Given the description of an element on the screen output the (x, y) to click on. 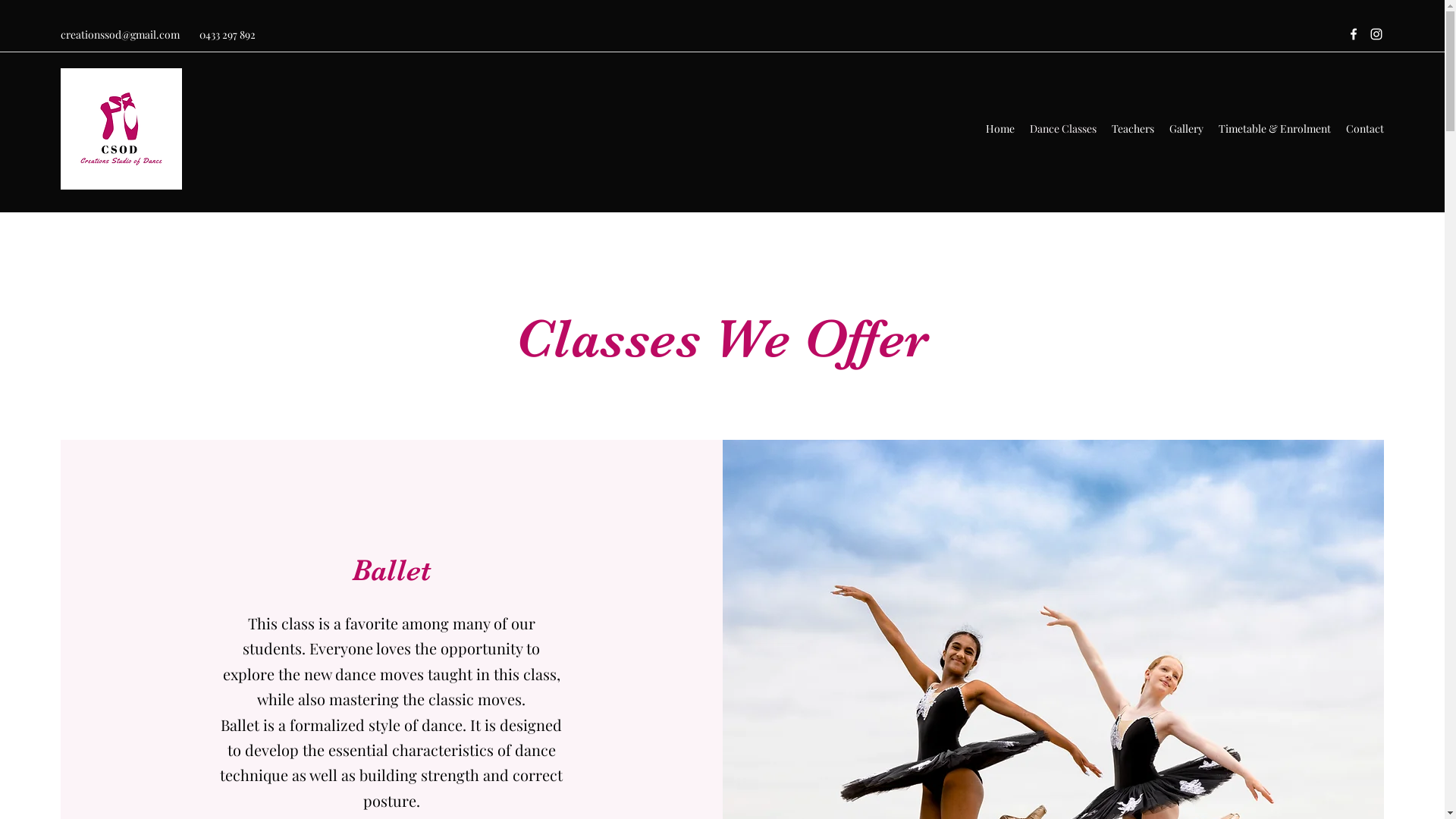
creationssod@gmail.com Element type: text (119, 34)
Teachers Element type: text (1132, 128)
Gallery Element type: text (1186, 128)
Dance Classes Element type: text (1063, 128)
Contact Element type: text (1364, 128)
Timetable & Enrolment Element type: text (1274, 128)
Home Element type: text (1000, 128)
